Given the description of an element on the screen output the (x, y) to click on. 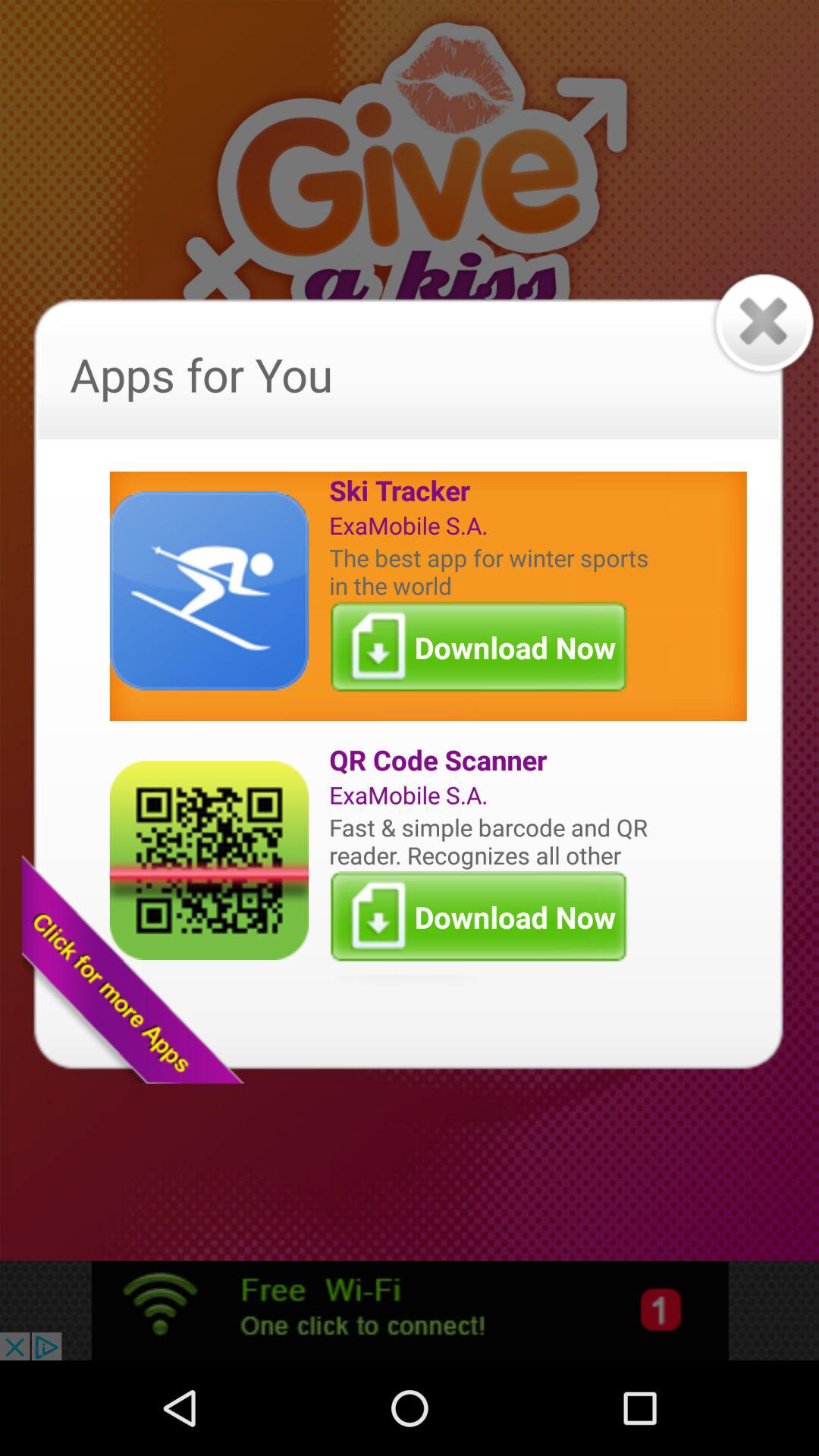
tap the best app (492, 571)
